Given the description of an element on the screen output the (x, y) to click on. 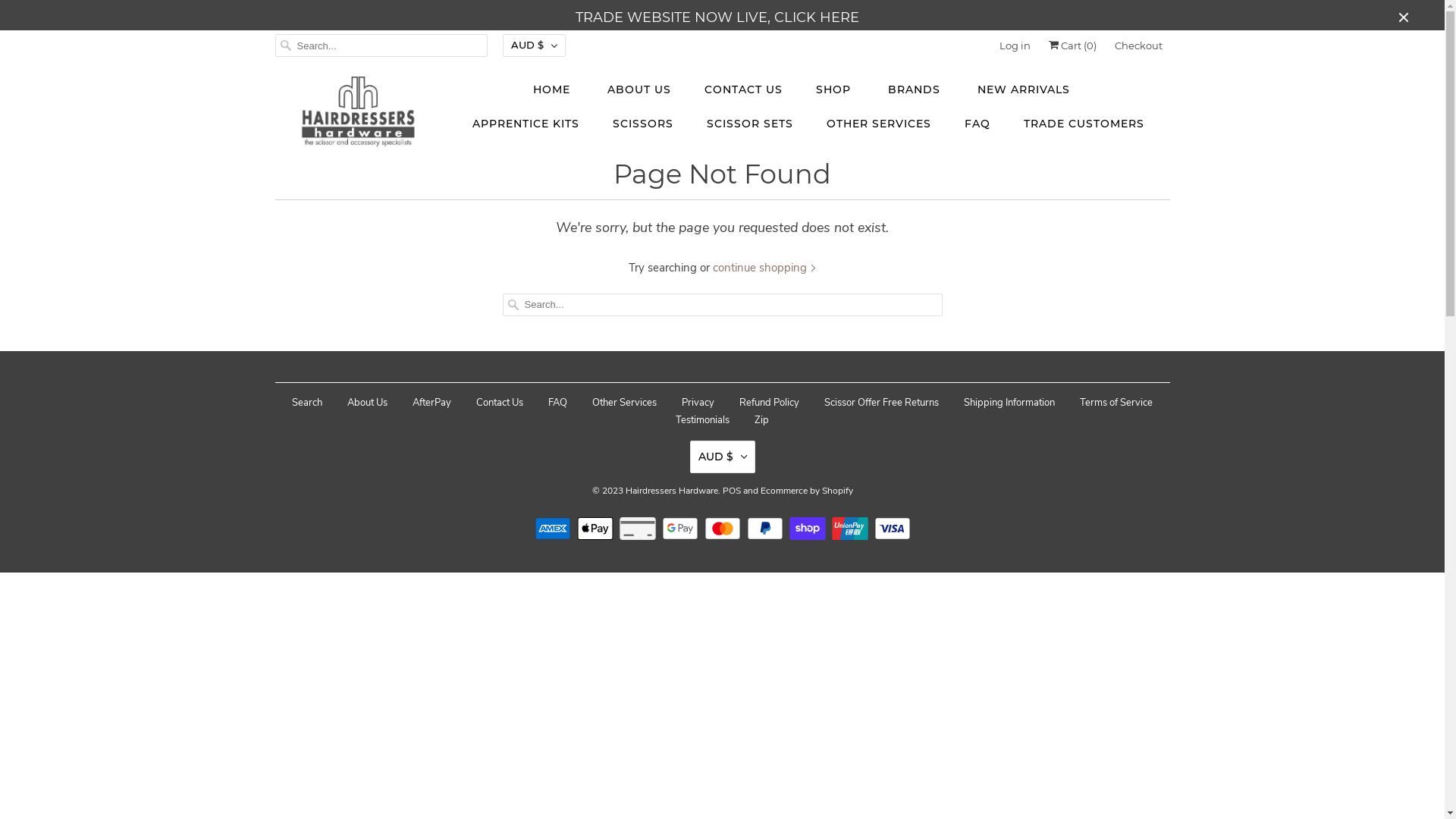
Contact Us Element type: text (499, 402)
Other Services Element type: text (624, 402)
OTHER SERVICES Element type: text (878, 123)
continue shopping Element type: text (764, 266)
AfterPay Element type: text (431, 402)
CONTACT US Element type: text (742, 88)
Refund Policy Element type: text (769, 402)
ABOUT US Element type: text (638, 88)
Scissor Offer Free Returns Element type: text (881, 402)
TRADE CUSTOMERS Element type: text (1083, 123)
FAQ Element type: text (977, 123)
NEW ARRIVALS Element type: text (1022, 88)
AUD $ Element type: text (533, 45)
FAQ Element type: text (557, 402)
AUD $ Element type: text (722, 456)
Privacy Element type: text (697, 402)
HOME  Element type: text (552, 88)
Log in Element type: text (1014, 45)
TRADE WEBSITE NOW LIVE, CLICK HERE Element type: text (717, 17)
Search Element type: text (306, 402)
APPRENTICE KITS Element type: text (524, 123)
SHOP  Element type: text (834, 88)
BRANDS  Element type: text (915, 88)
Cart (0) Element type: text (1071, 45)
Checkout Element type: text (1138, 45)
Zip Element type: text (761, 419)
Ecommerce by Shopify Element type: text (805, 485)
Testimonials Element type: text (702, 419)
POS Element type: text (730, 485)
Shipping Information Element type: text (1008, 402)
Hairdressers Hardware Element type: text (670, 485)
Terms of Service Element type: text (1115, 402)
SCISSORS Element type: text (642, 123)
SCISSOR SETS Element type: text (749, 123)
About Us Element type: text (367, 402)
